Given the description of an element on the screen output the (x, y) to click on. 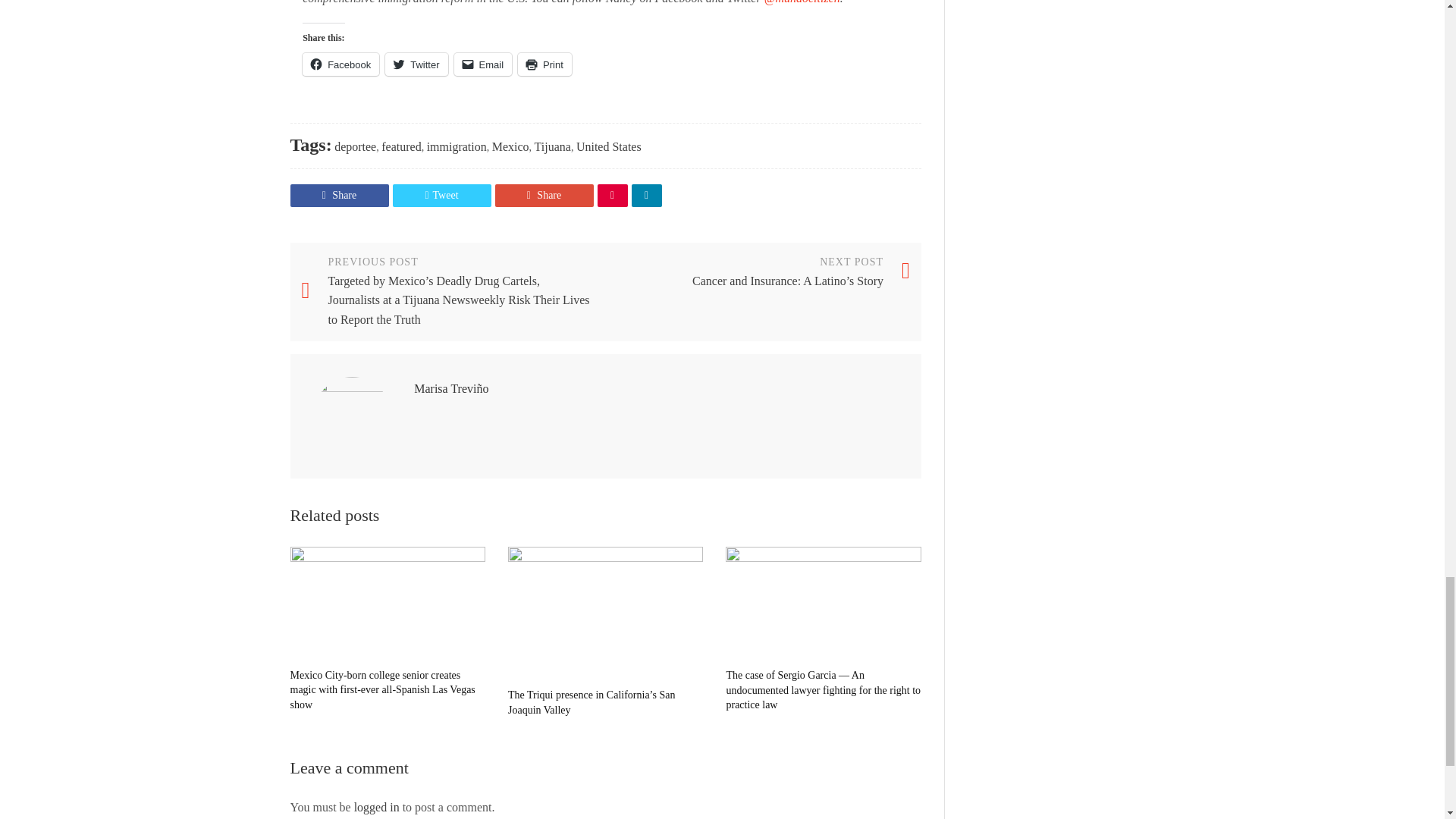
Click to share on Twitter (415, 64)
Click to email a link to a friend (483, 64)
Click to share on Facebook (340, 64)
Click to print (545, 64)
